Given the description of an element on the screen output the (x, y) to click on. 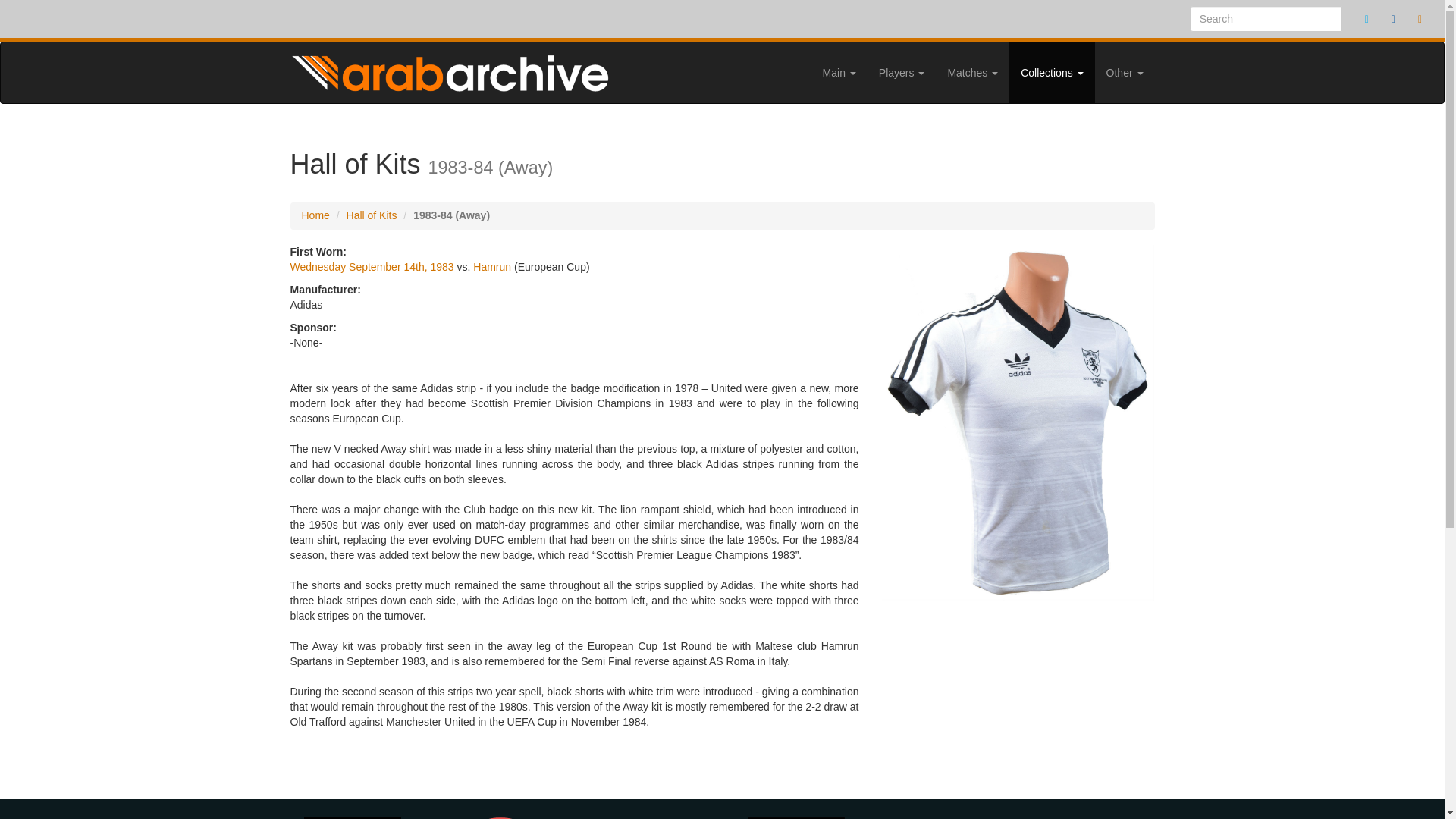
Main (838, 72)
Players (901, 72)
Other (1124, 72)
Matches (972, 72)
Collections (1051, 72)
